Given the description of an element on the screen output the (x, y) to click on. 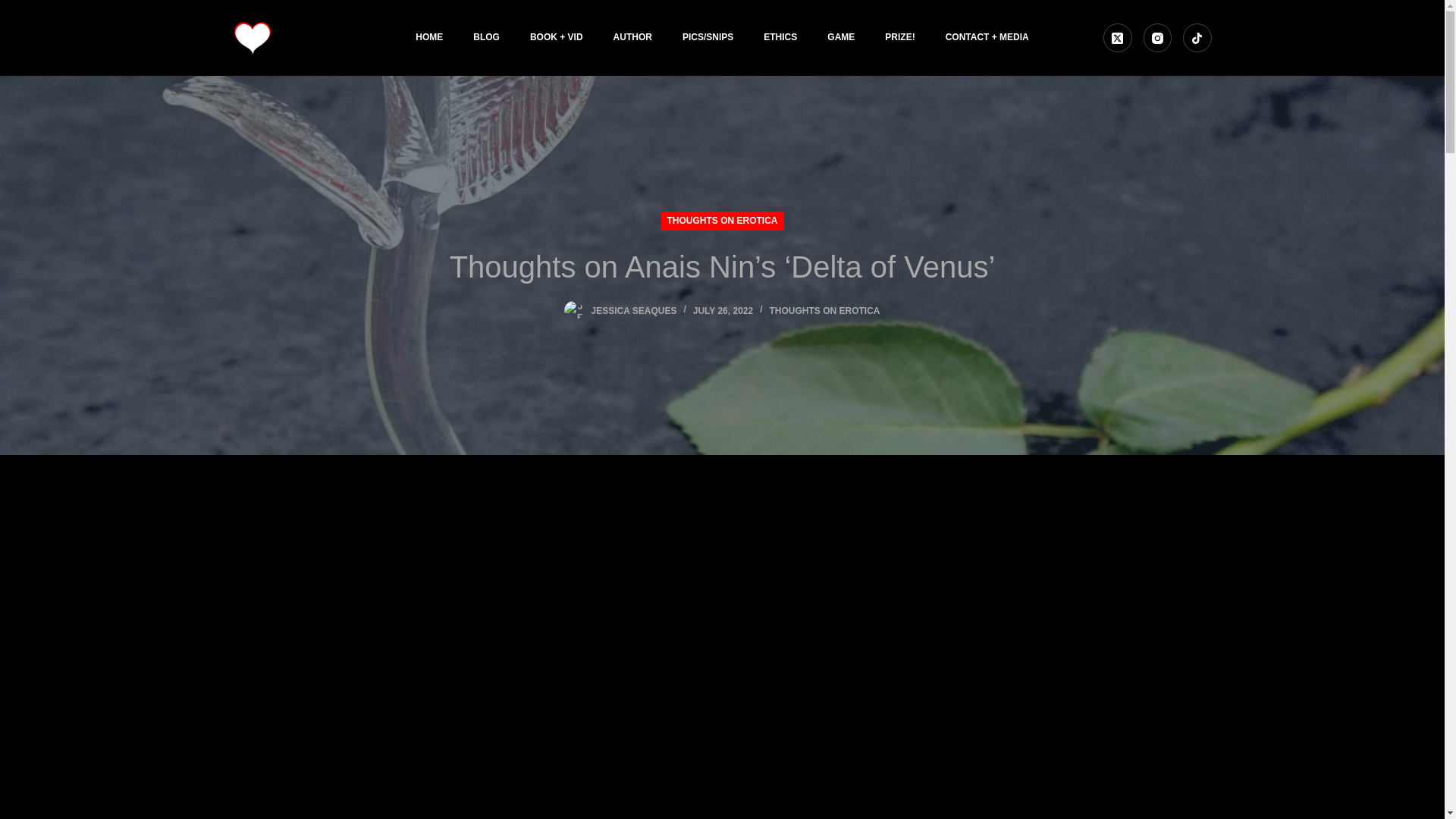
Skip to content (15, 7)
JESSICA SEAQUES (634, 310)
AUTHOR (632, 38)
THOUGHTS ON EROTICA (823, 310)
THOUGHTS ON EROTICA (722, 220)
Posts by Jessica Seaques (634, 310)
